Given the description of an element on the screen output the (x, y) to click on. 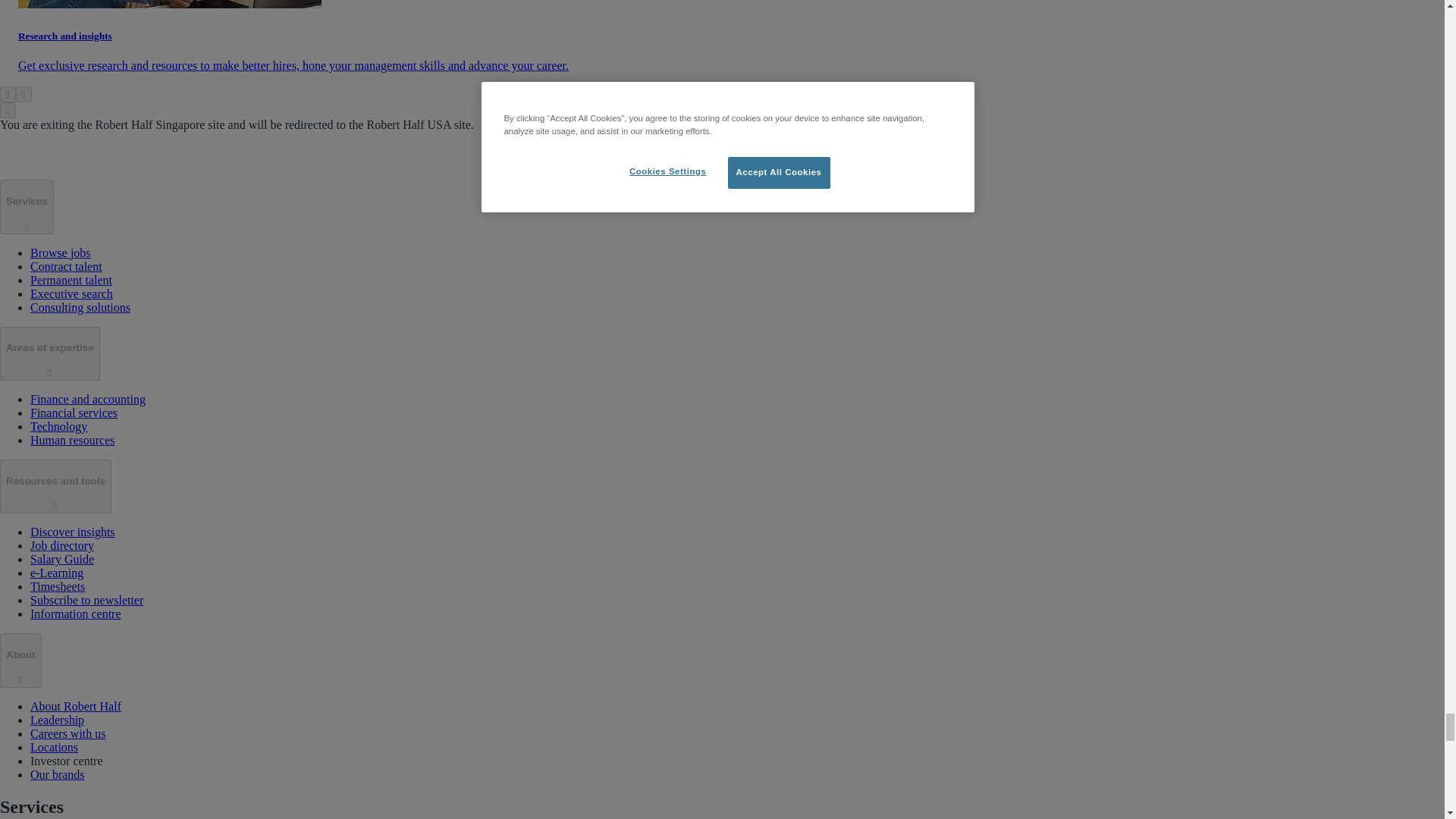
Continue (721, 155)
